Given the description of an element on the screen output the (x, y) to click on. 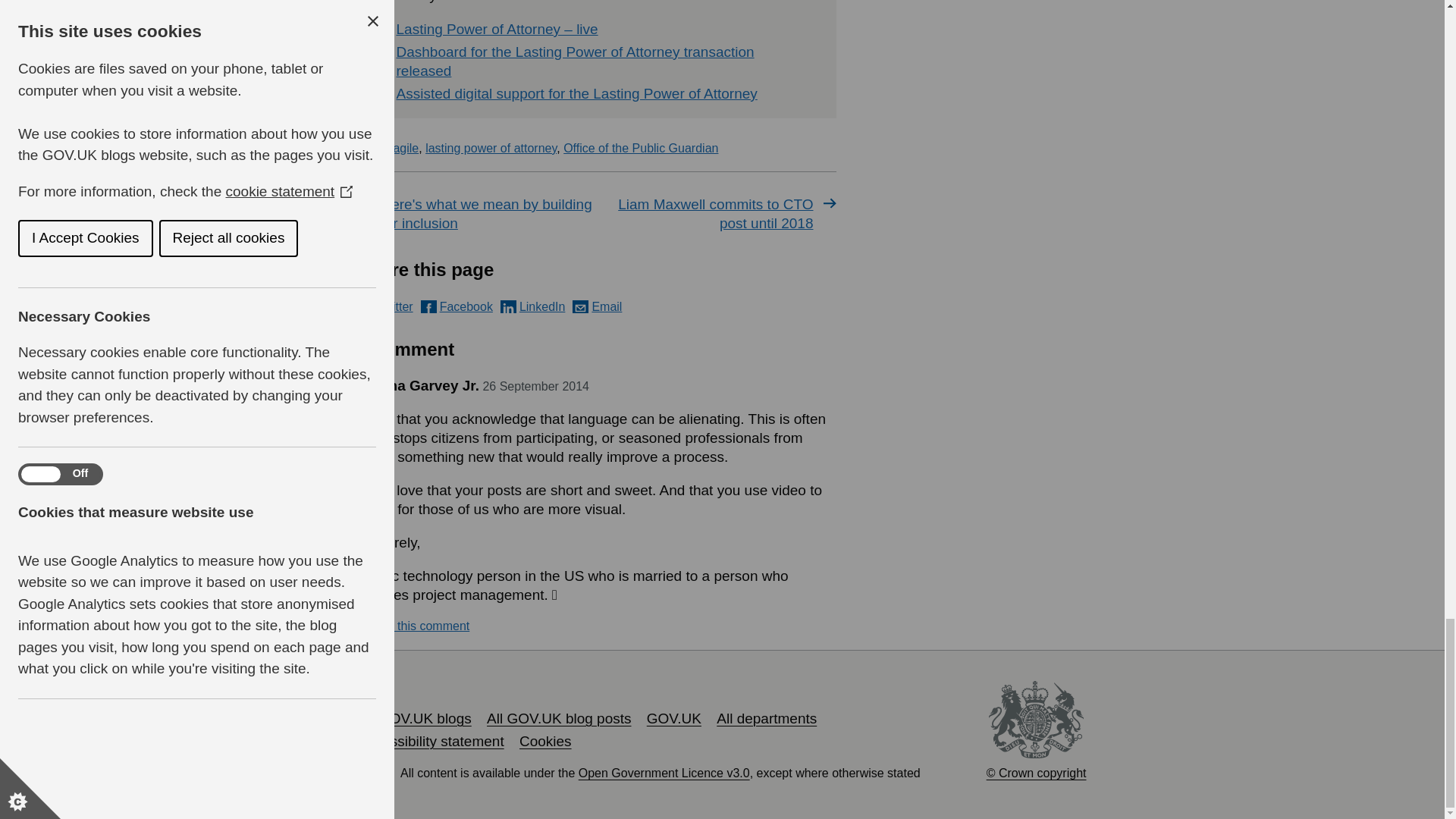
Here's what we mean by building for inclusion (475, 213)
Office of the Public Guardian (640, 147)
agile (406, 147)
Assisted digital support for the Lasting Power of Attorney (576, 93)
Liam Maxwell commits to CTO post until 2018 (718, 213)
lasting power of attorney (490, 147)
Link to this comment (413, 626)
LinkedIn (533, 306)
Twitter (385, 306)
